Given the description of an element on the screen output the (x, y) to click on. 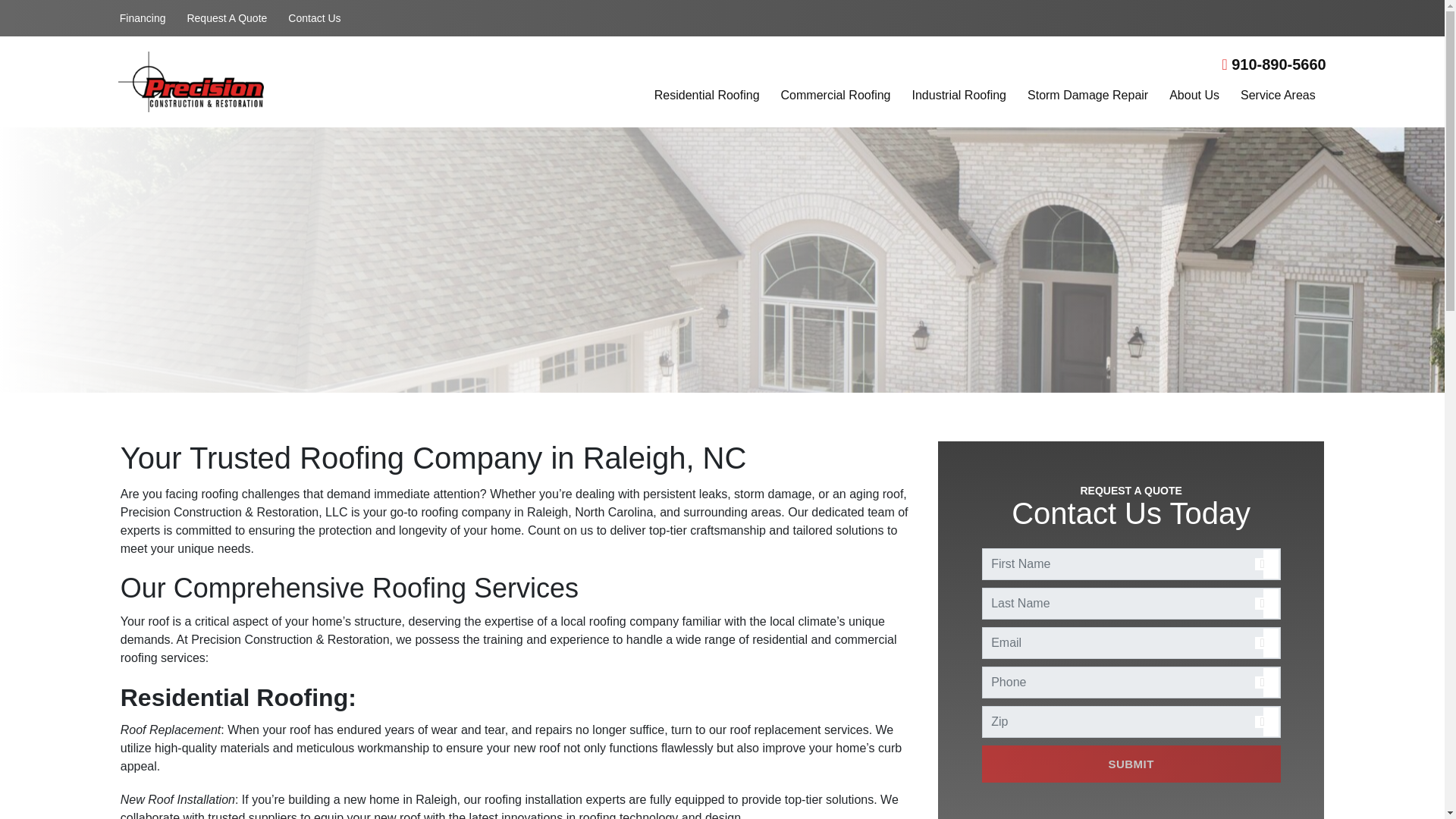
About Us (1194, 96)
Commercial Roofing (835, 96)
Submit (1131, 763)
Service Areas (1278, 96)
Industrial Roofing (958, 96)
910-890-5660 (1272, 64)
Storm Damage Repair (1087, 96)
Request A Quote (227, 18)
Contact Us (314, 18)
Residential Roofing (706, 96)
Financing (142, 18)
Submit (1131, 763)
